Given the description of an element on the screen output the (x, y) to click on. 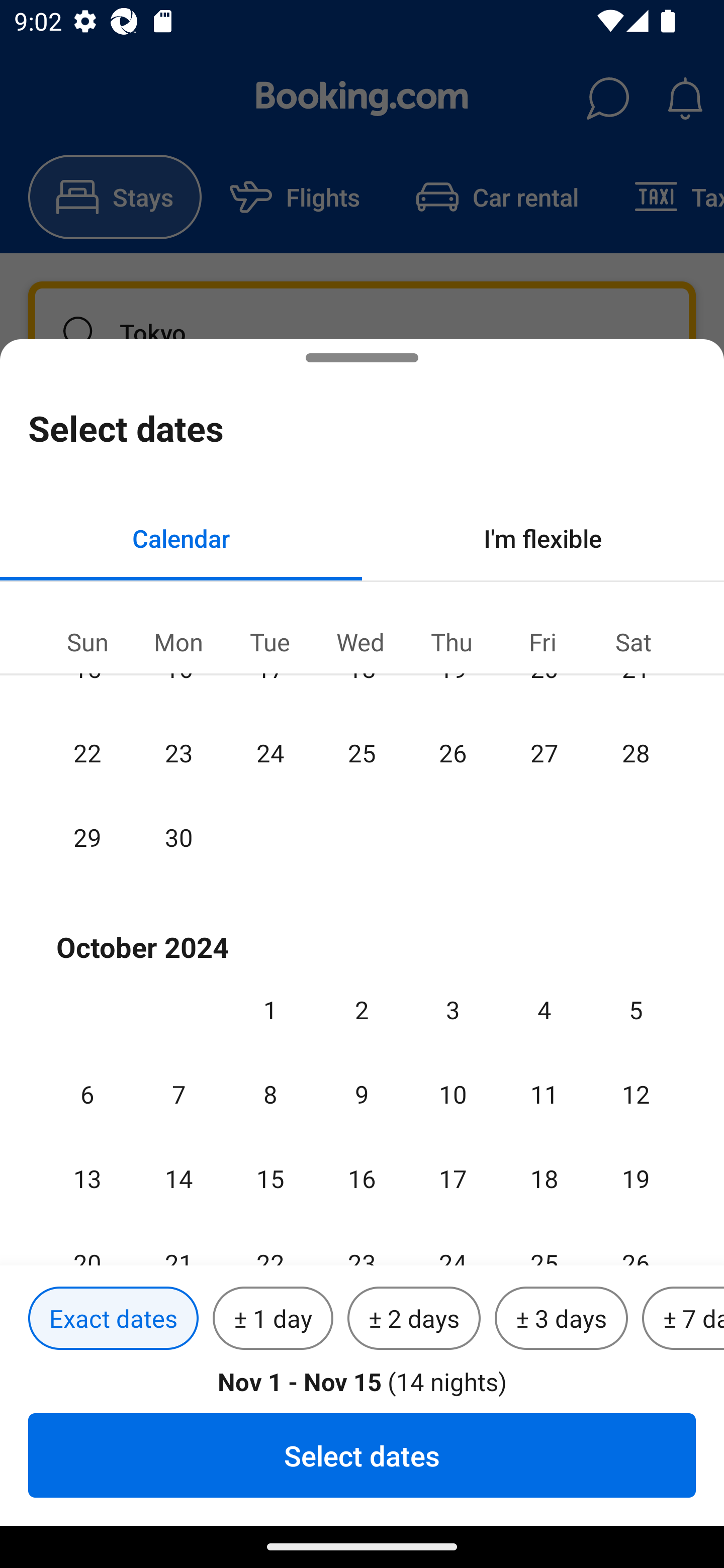
I'm flexible (543, 537)
Exact dates (113, 1318)
± 1 day (272, 1318)
± 2 days (413, 1318)
± 3 days (560, 1318)
± 7 days (683, 1318)
Select dates (361, 1454)
